Given the description of an element on the screen output the (x, y) to click on. 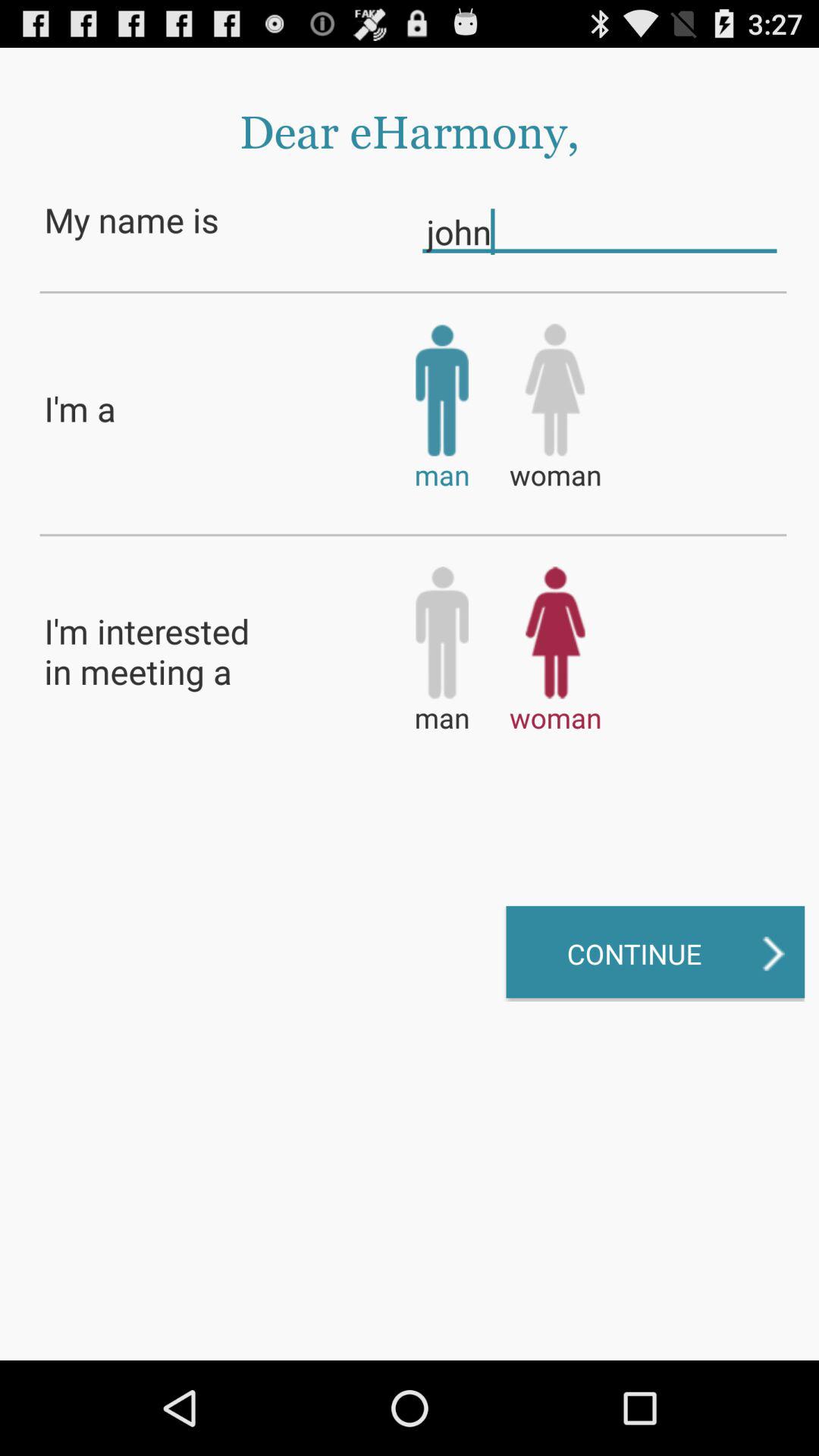
jump to continue icon (655, 953)
